Given the description of an element on the screen output the (x, y) to click on. 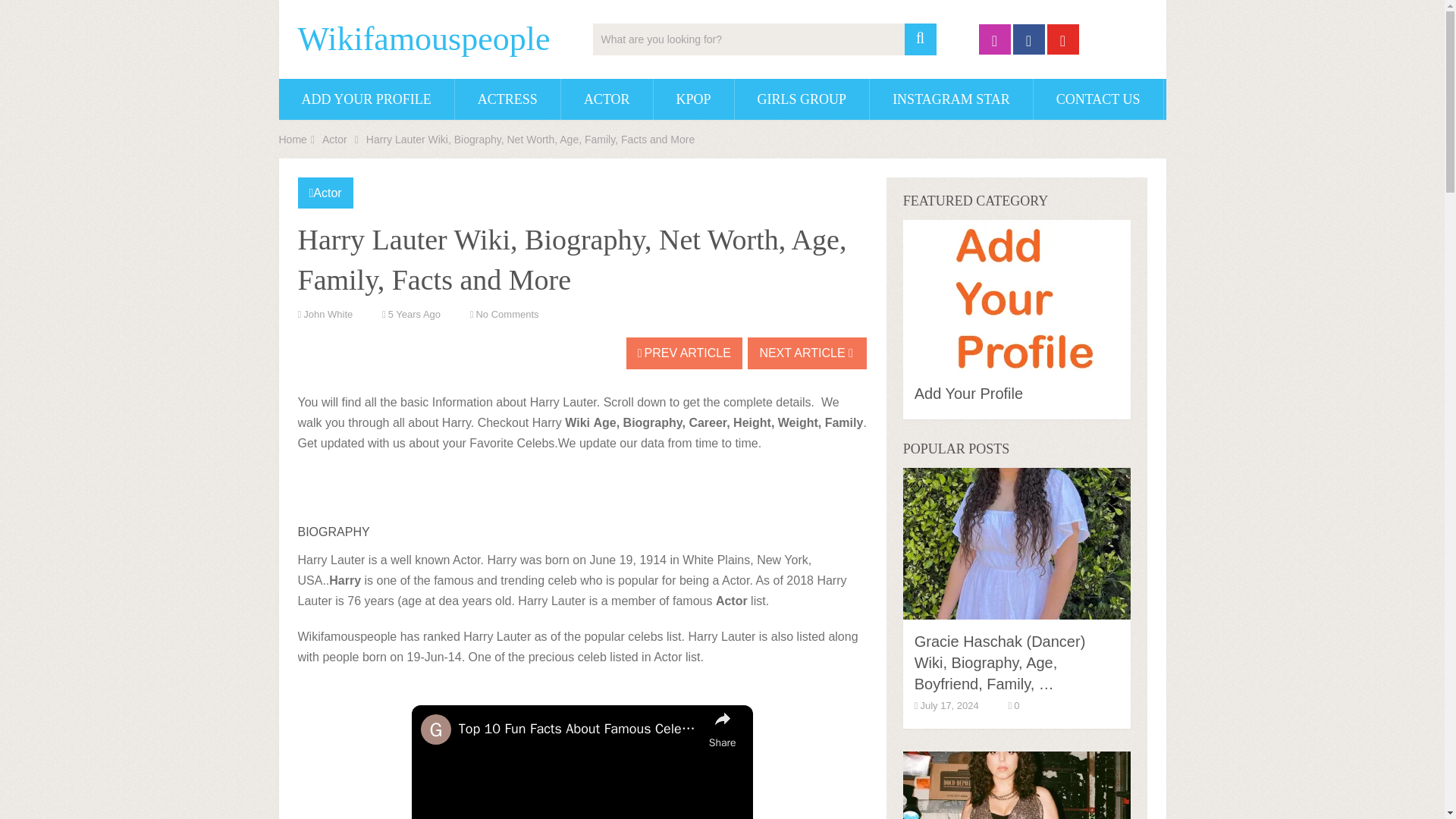
Actor (334, 139)
Top 10 Fun Facts About Famous Celebrities (579, 729)
Home (293, 139)
ACTOR (606, 98)
PREV ARTICLE (684, 353)
Wikifamouspeople (423, 39)
Posts by John White (327, 314)
GIRLS GROUP (802, 98)
ACTRESS (507, 98)
Actor (326, 192)
CONTACT US (1098, 98)
INSTAGRAM STAR (950, 98)
KPOP (693, 98)
ADD YOUR PROFILE (366, 98)
View all posts in Actor (326, 192)
